Given the description of an element on the screen output the (x, y) to click on. 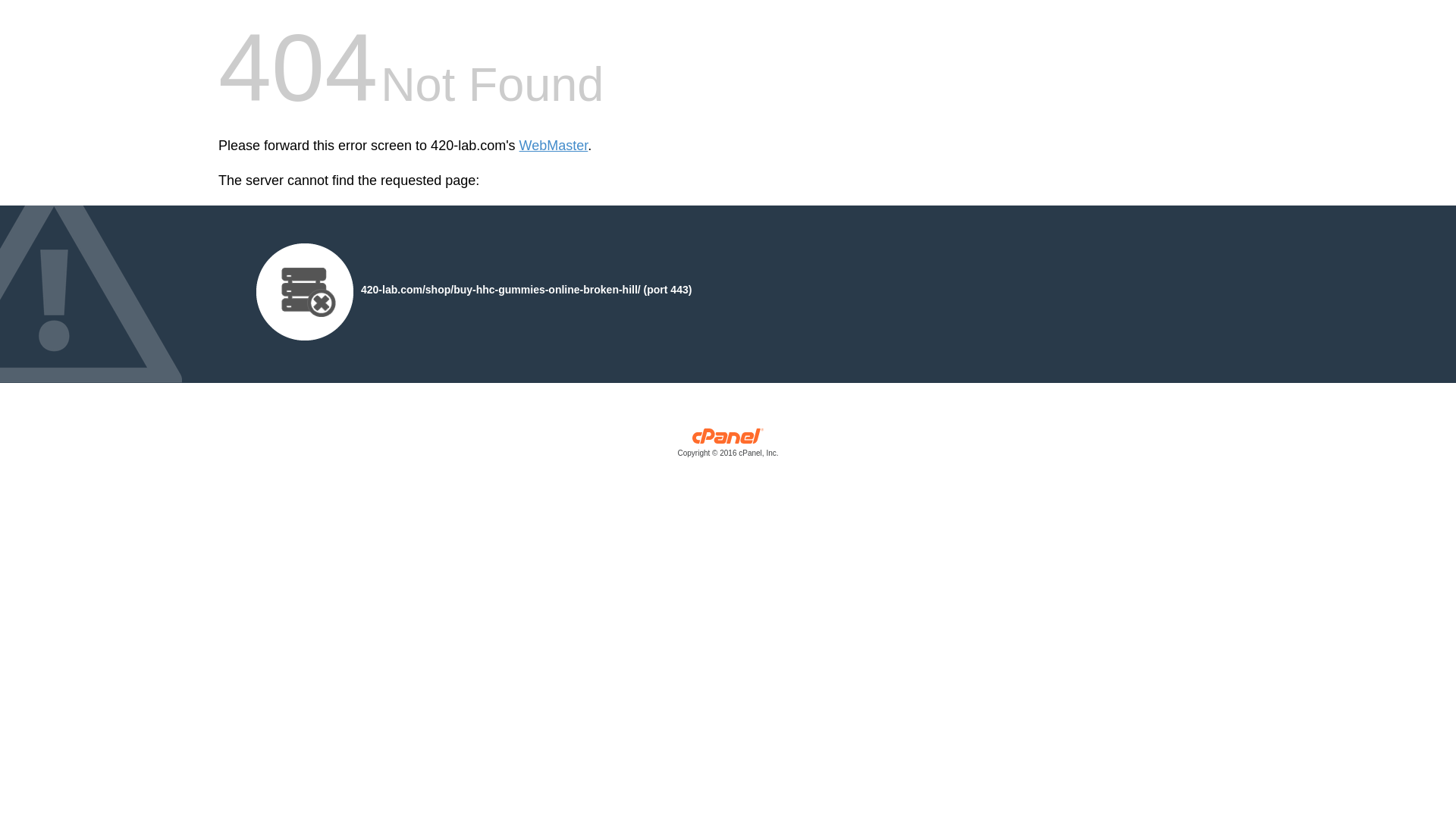
cPanel, Inc. (727, 446)
WebMaster (553, 145)
